Given the description of an element on the screen output the (x, y) to click on. 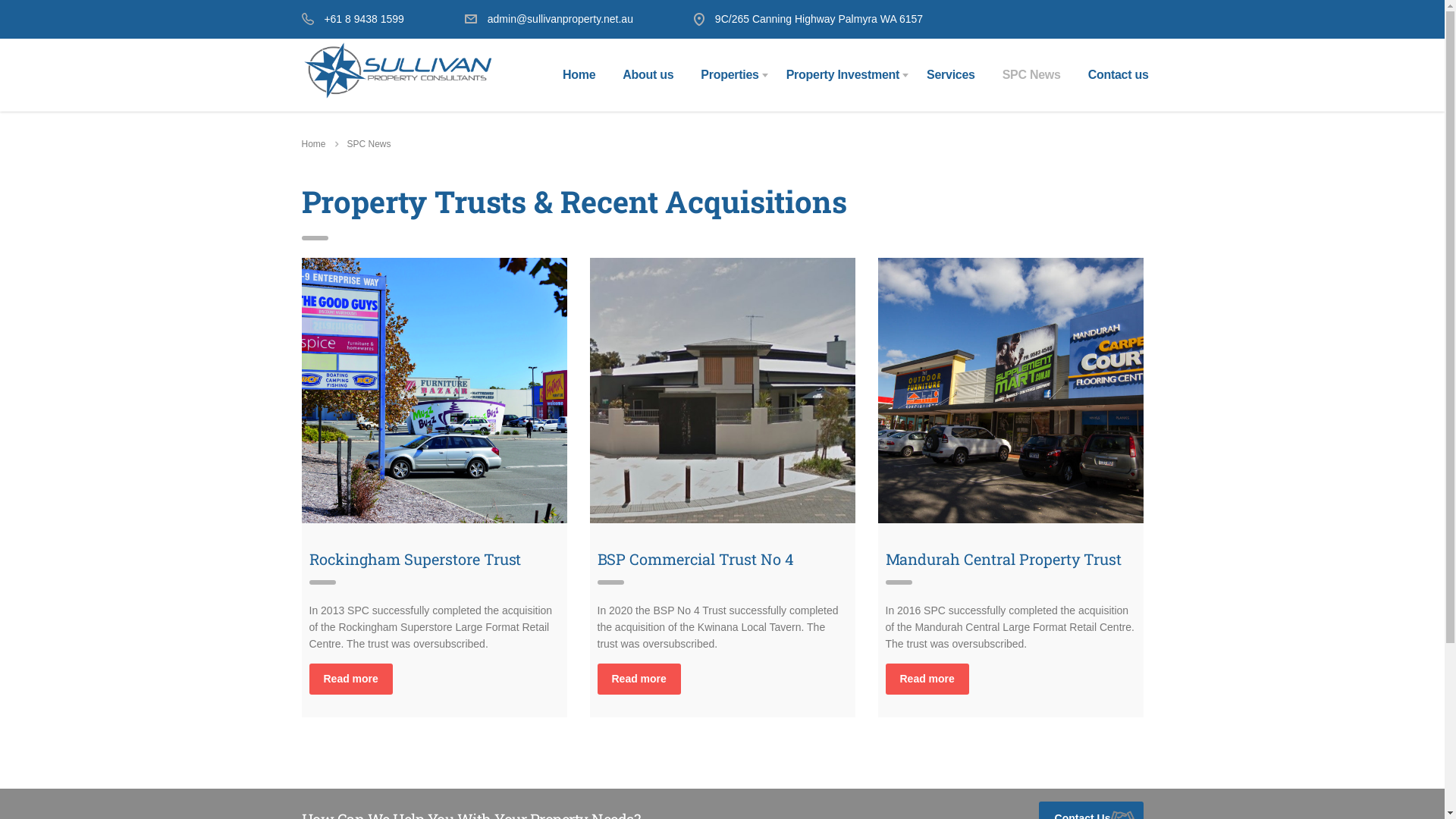
Services Element type: text (950, 74)
Read more Element type: text (350, 678)
Home Element type: text (578, 74)
Read more Element type: text (638, 678)
Read more Element type: text (927, 678)
Rockingham Superstore Trust Element type: hover (434, 390)
Contact us Element type: text (1118, 74)
admin@sullivanproperty.net.au Element type: text (560, 18)
Property Investment Element type: text (842, 74)
+61 8 9438 1599 Element type: text (363, 18)
Mandurah Central Property Trust Element type: hover (1010, 390)
SPC News Element type: text (1031, 74)
Properties Element type: text (729, 74)
BSP Commercial Trust No 4 Element type: hover (722, 390)
About us Element type: text (647, 74)
Home Element type: text (313, 143)
